Given the description of an element on the screen output the (x, y) to click on. 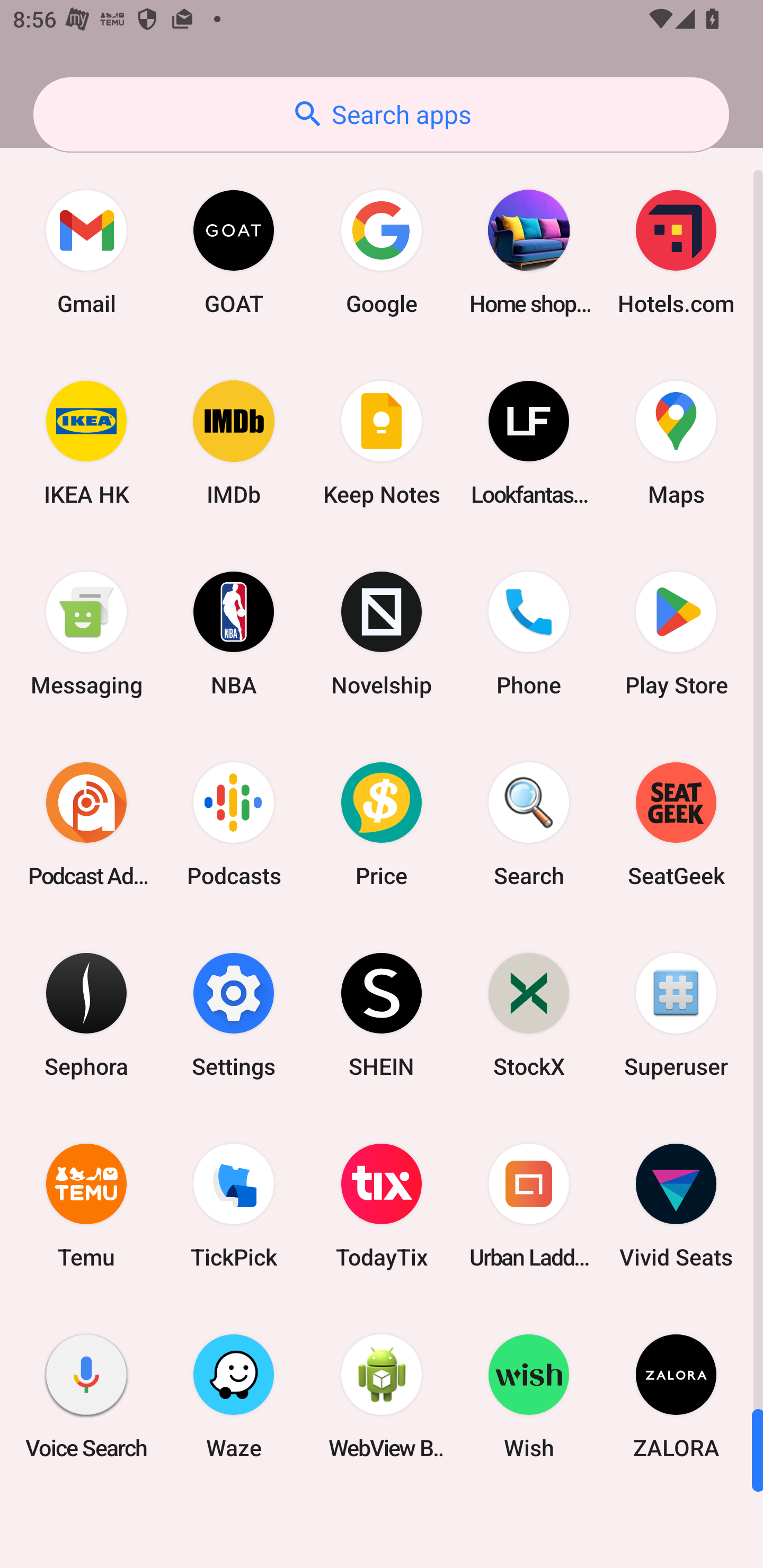
  Search apps (381, 114)
Gmail (86, 252)
GOAT (233, 252)
Google (381, 252)
Home shopping (528, 252)
Hotels.com (676, 252)
IKEA HK (86, 442)
IMDb (233, 442)
Keep Notes (381, 442)
Lookfantastic (528, 442)
Maps (676, 442)
Messaging (86, 633)
NBA (233, 633)
Novelship (381, 633)
Phone (528, 633)
Play Store (676, 633)
Podcast Addict (86, 823)
Podcasts (233, 823)
Price (381, 823)
Search (528, 823)
SeatGeek (676, 823)
Sephora (86, 1014)
Settings (233, 1014)
SHEIN (381, 1014)
StockX (528, 1014)
Superuser (676, 1014)
Temu (86, 1205)
TickPick (233, 1205)
TodayTix (381, 1205)
Urban Ladder (528, 1205)
Vivid Seats (676, 1205)
Voice Search (86, 1396)
Waze (233, 1396)
WebView Browser Tester (381, 1396)
Wish (528, 1396)
ZALORA (676, 1396)
